Given the description of an element on the screen output the (x, y) to click on. 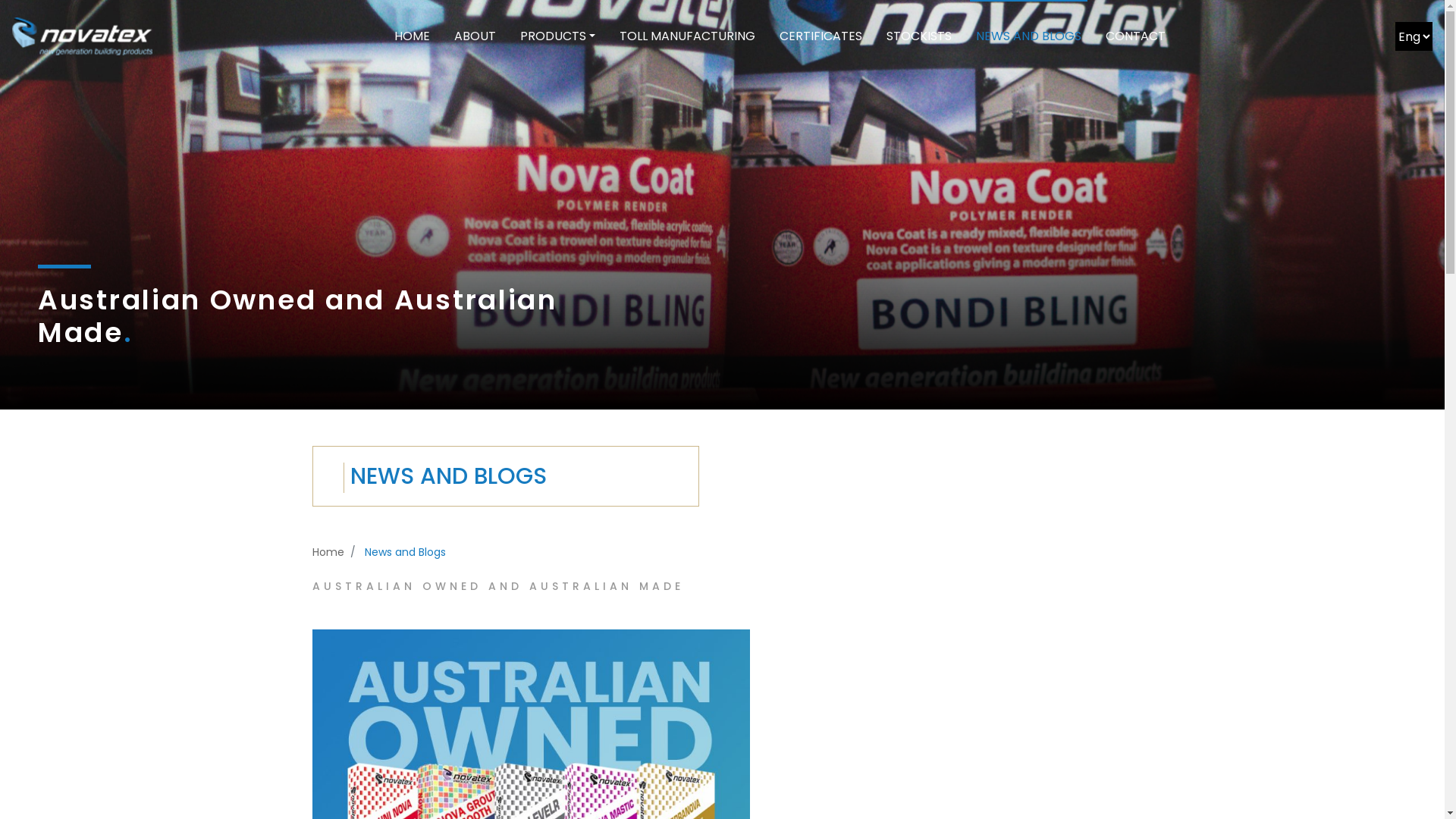
CONTACT Element type: text (1135, 36)
STOCKISTS Element type: text (918, 36)
TOLL MANUFACTURING Element type: text (687, 36)
PRODUCTS Element type: text (557, 36)
NEWS AND BLOGS Element type: text (1028, 36)
CERTIFICATES Element type: text (820, 36)
ABOUT Element type: text (475, 36)
HOME Element type: text (412, 36)
